Given the description of an element on the screen output the (x, y) to click on. 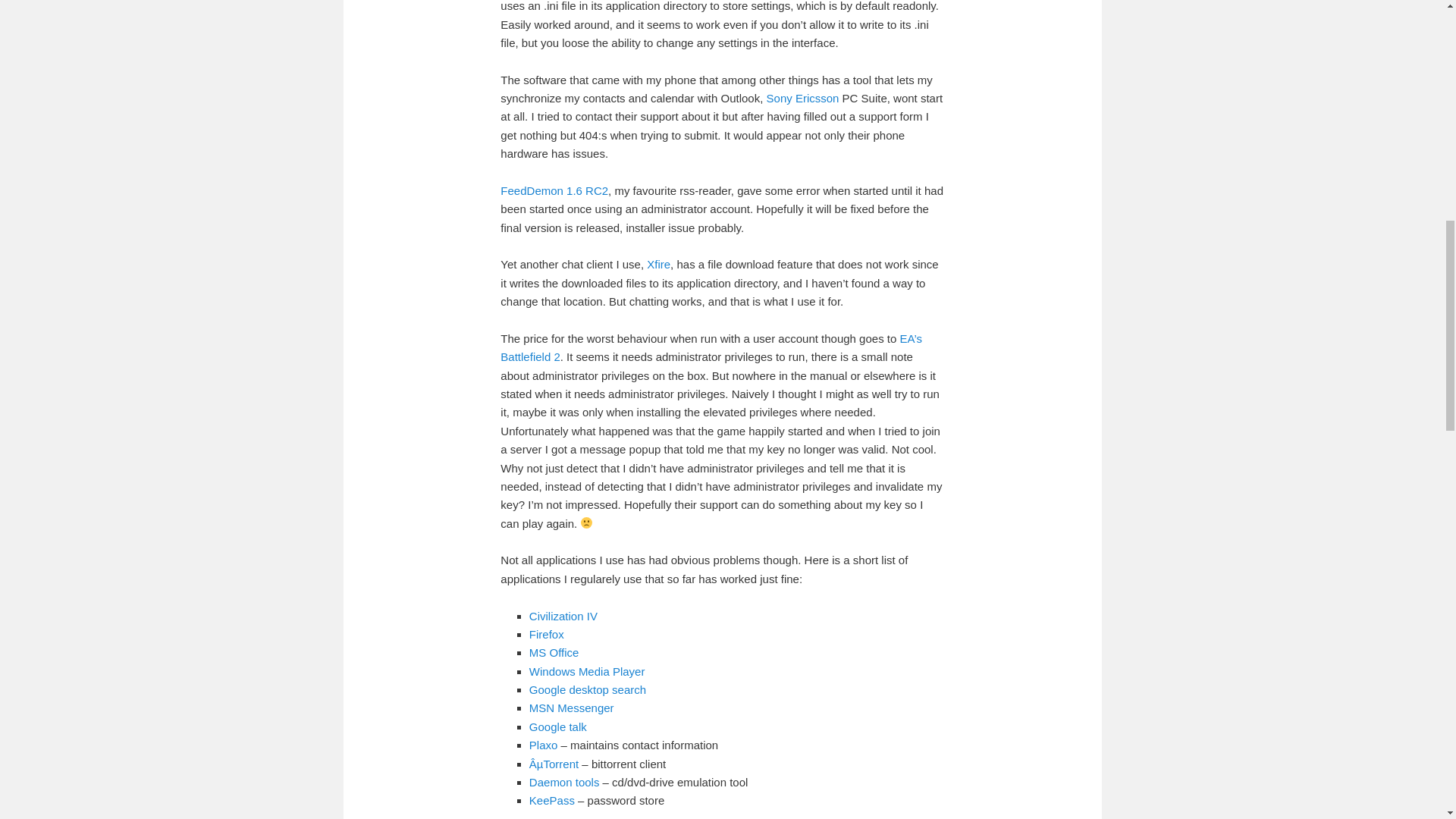
Daemon tools (564, 781)
Google desktop search (587, 689)
Xfire (657, 264)
KeePass (552, 799)
Windows Media Player (587, 671)
Sony Ericsson (803, 97)
Civilization IV (562, 615)
MSN Messenger (571, 707)
Google talk (557, 726)
MS Office (554, 652)
FeedDemon 1.6 RC2 (554, 190)
Plaxo (543, 744)
Firefox (546, 634)
